Given the description of an element on the screen output the (x, y) to click on. 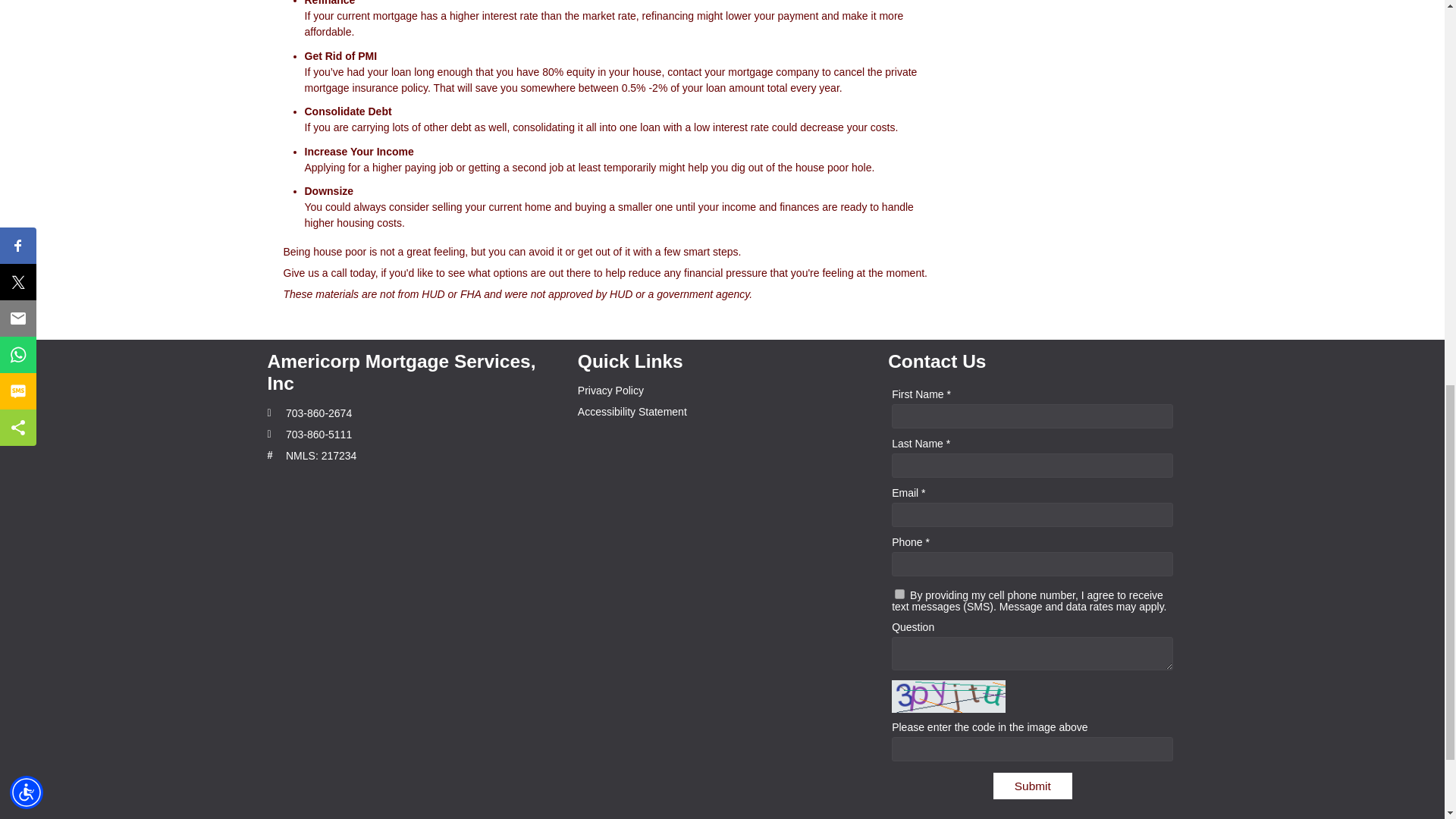
yes (899, 593)
